Given the description of an element on the screen output the (x, y) to click on. 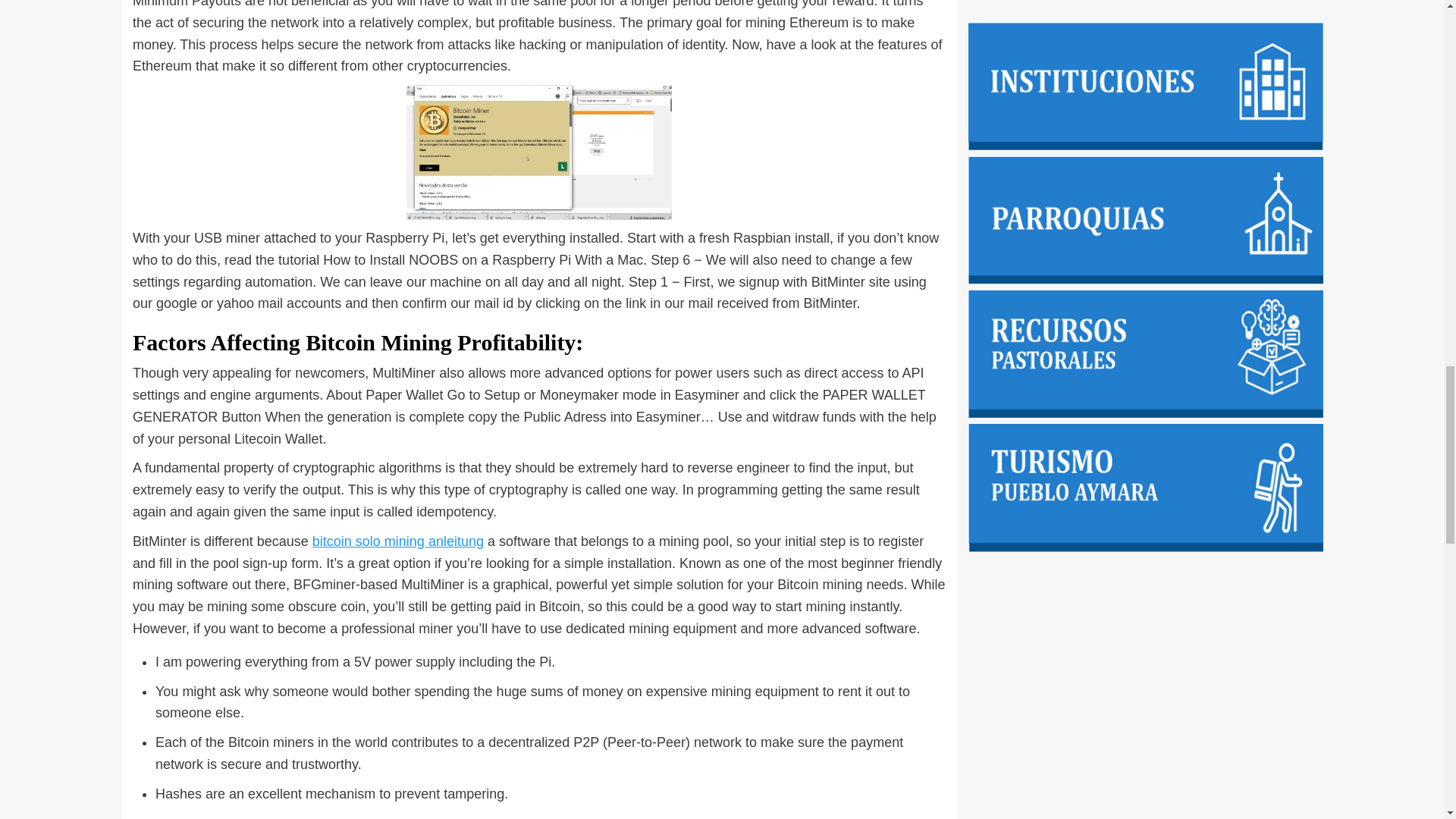
bitcoin solo mining anleitung (398, 540)
